Given the description of an element on the screen output the (x, y) to click on. 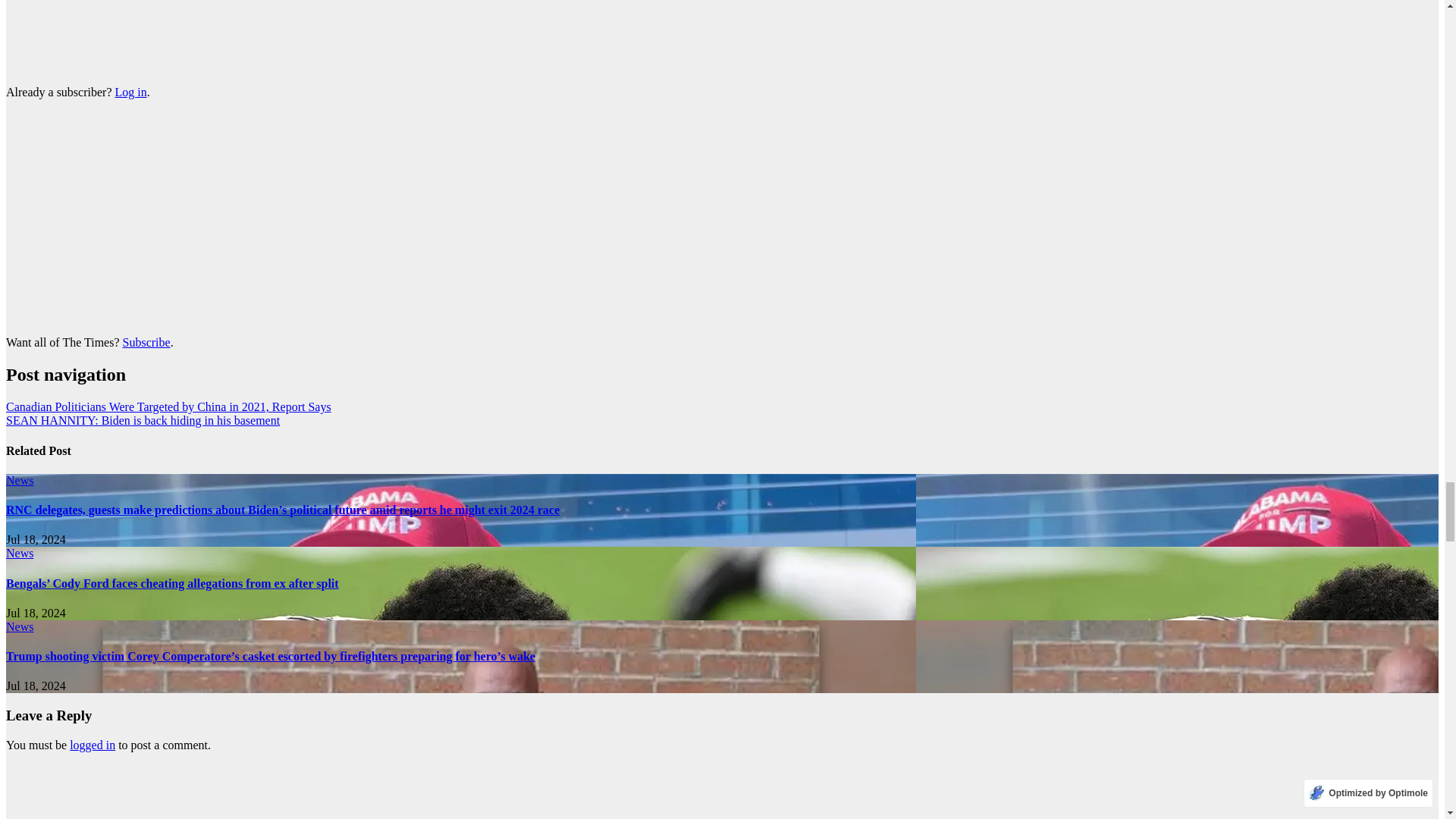
Subscribe (146, 341)
Log in (131, 91)
